Given the description of an element on the screen output the (x, y) to click on. 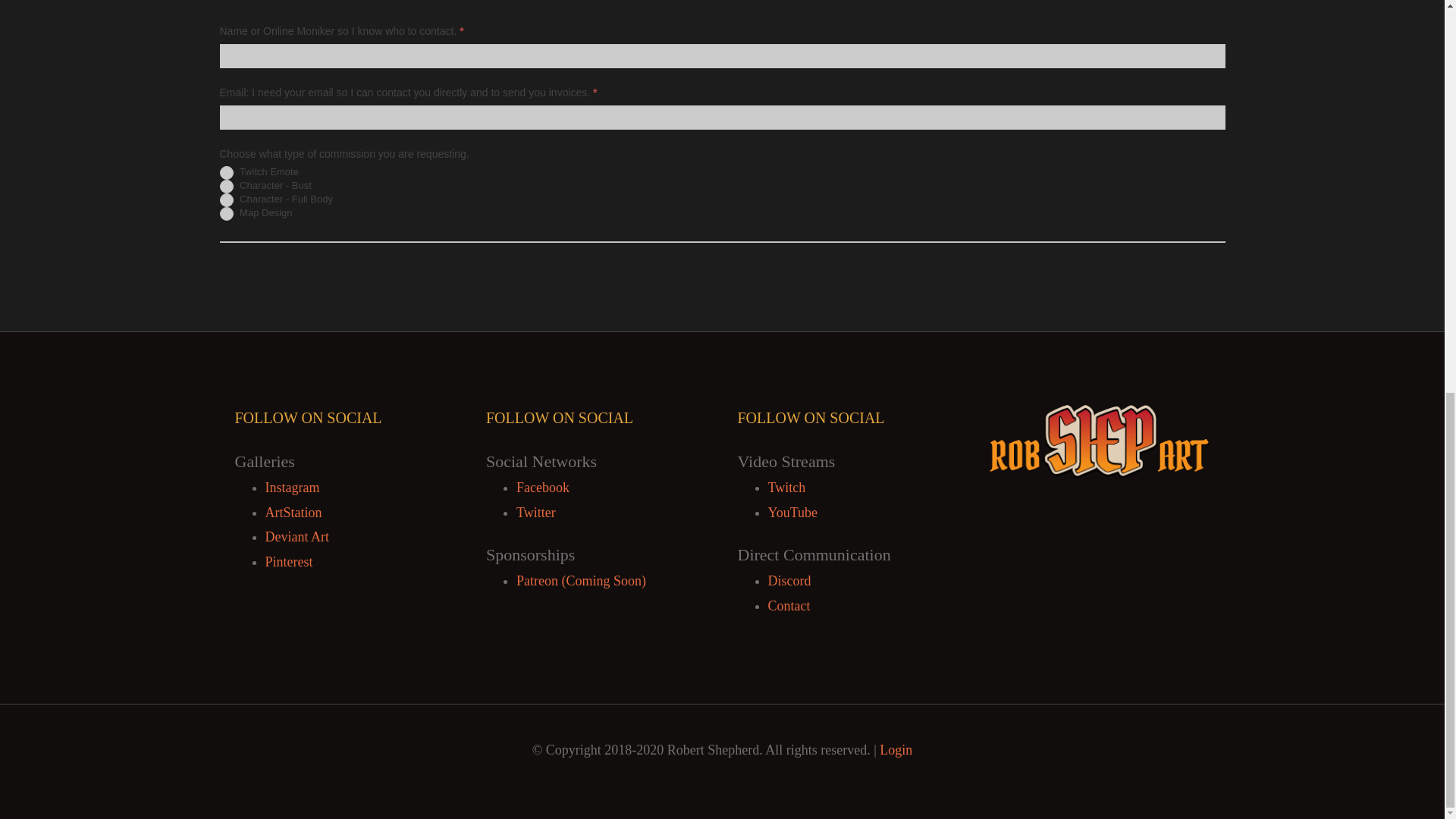
Pinterest (288, 561)
YouTube (791, 512)
Deviant Art (296, 536)
ArtStation (292, 512)
Login (895, 749)
Twitch Emote (225, 172)
Twitter (536, 512)
Character - Full Body (225, 200)
Twitch (786, 487)
Discord (788, 580)
Map Design (225, 213)
Contact (788, 605)
Character - Bust (225, 186)
Instagram (292, 487)
Facebook (542, 487)
